Given the description of an element on the screen output the (x, y) to click on. 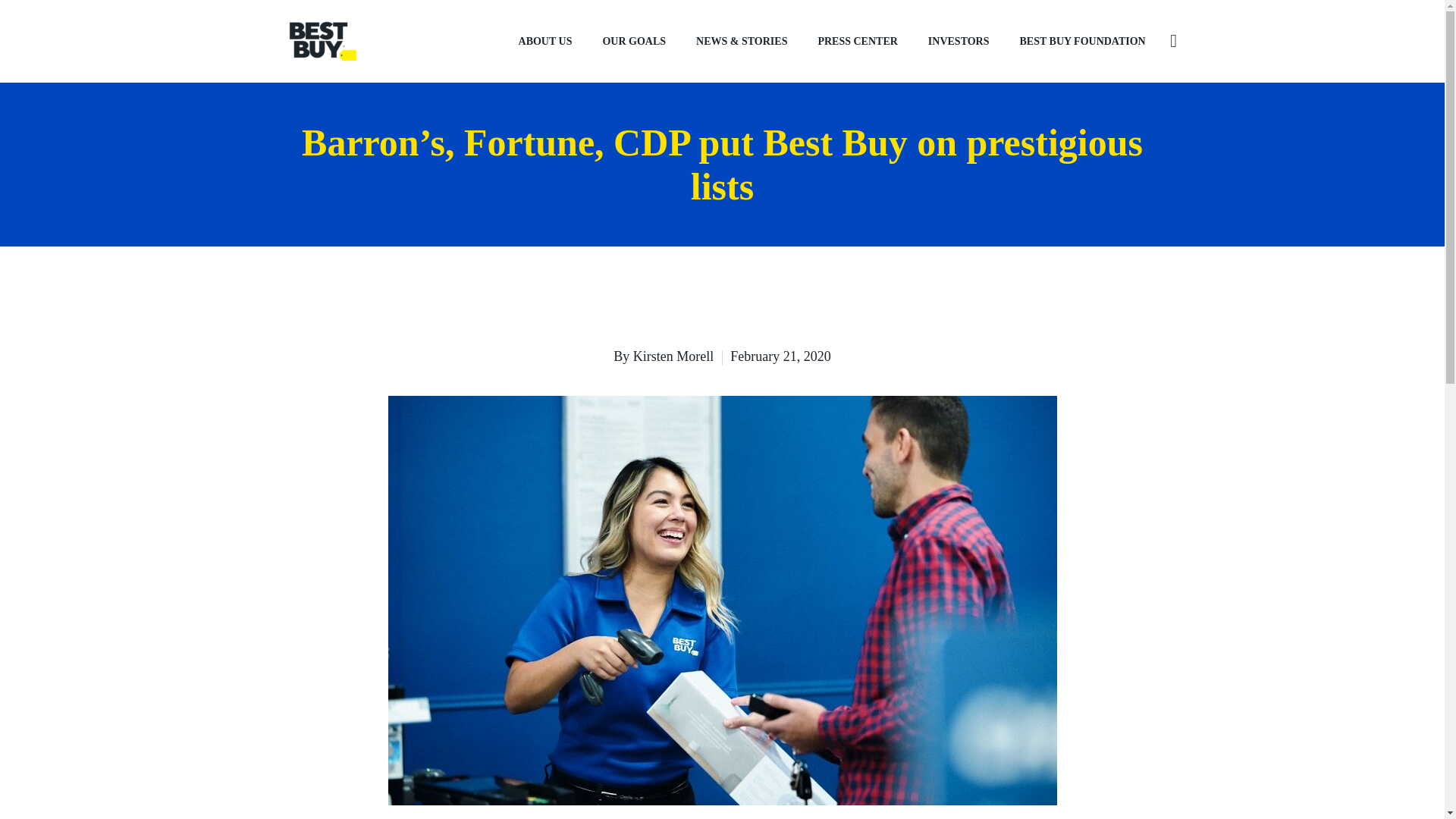
INVESTORS (958, 40)
BEST BUY FOUNDATION (1082, 40)
ABOUT US (545, 40)
OUR GOALS (633, 40)
PRESS CENTER (857, 40)
